Given the description of an element on the screen output the (x, y) to click on. 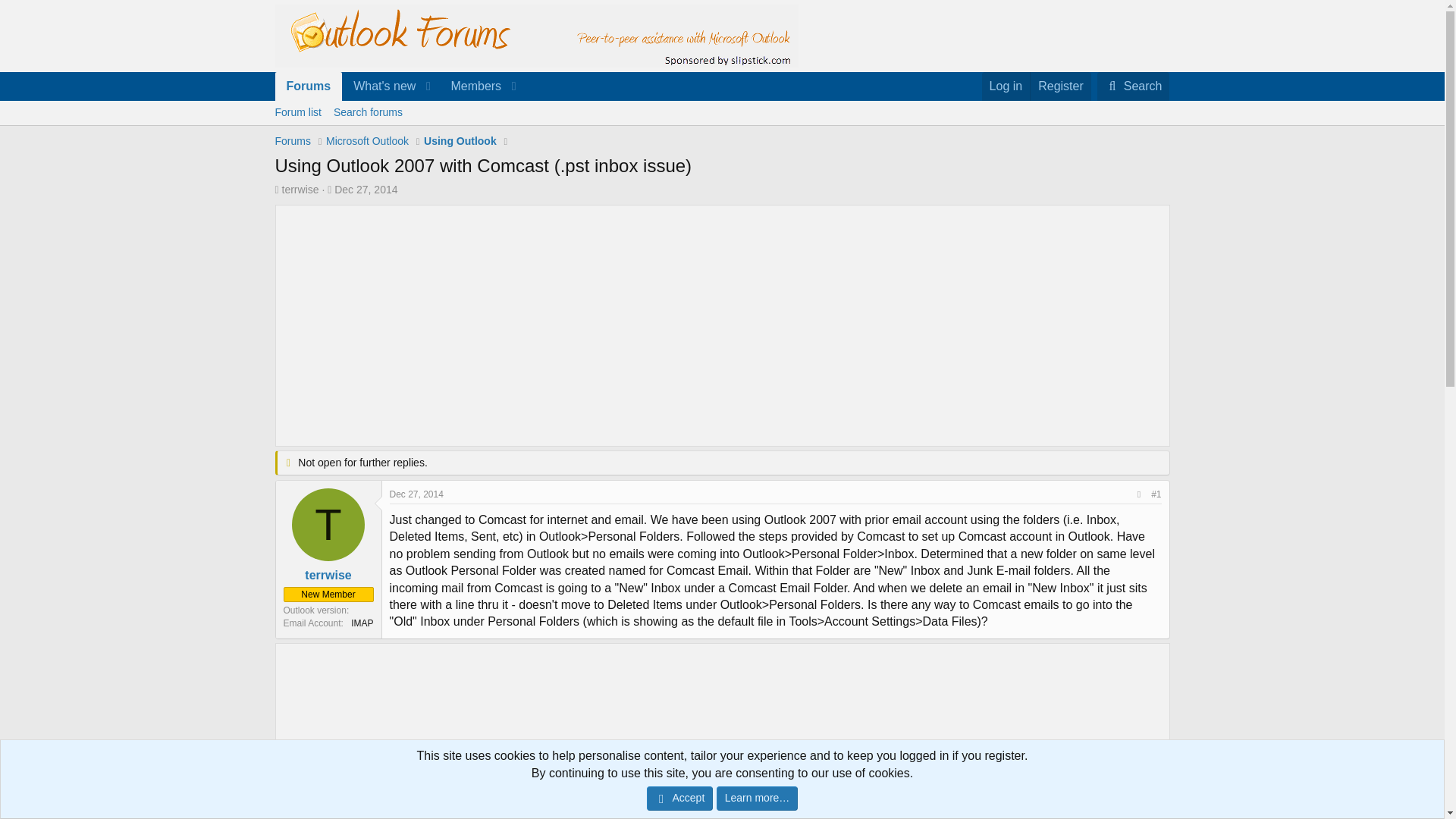
Forum list (296, 112)
Register (1059, 86)
Microsoft Outlook (367, 141)
Search (1133, 86)
Log in (1005, 86)
terrwise (300, 189)
Forums (308, 86)
Using Outlook (459, 141)
Dec 27, 2014 at 3:04 PM (720, 129)
Members (365, 189)
What's new (470, 86)
Search (379, 86)
Advertisement (1133, 86)
